Given the description of an element on the screen output the (x, y) to click on. 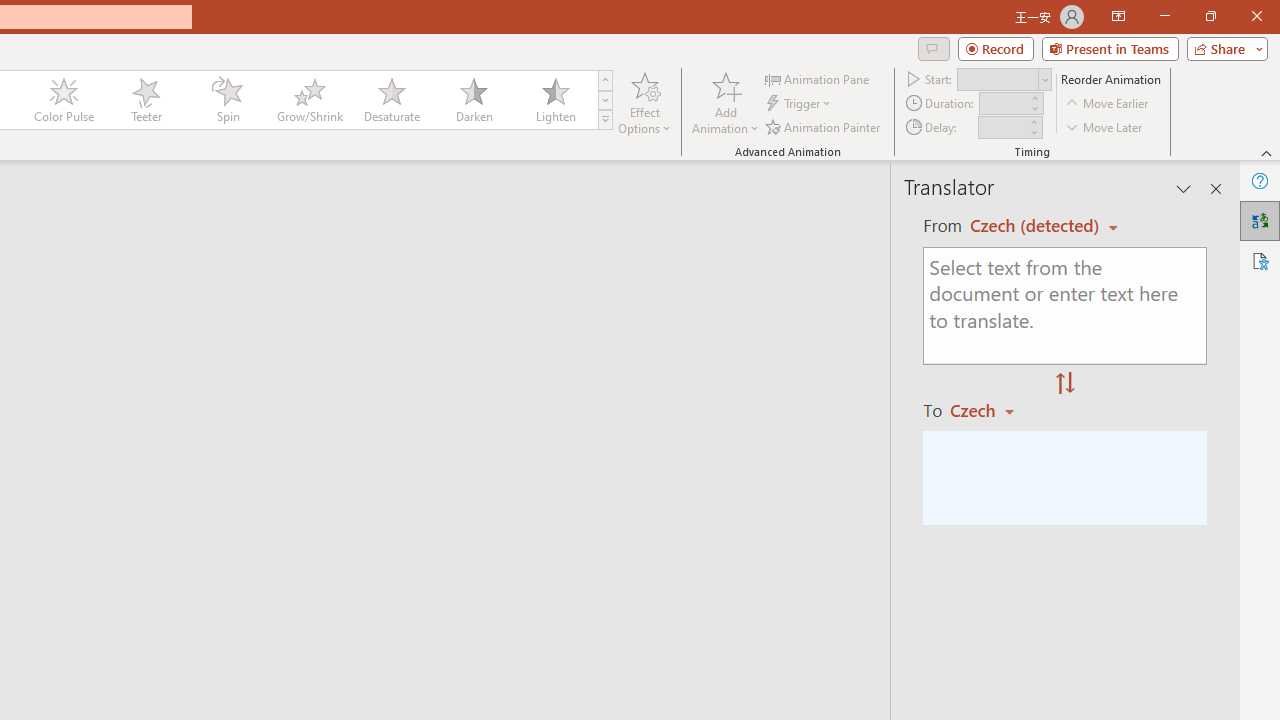
Desaturate (391, 100)
Move Earlier (1107, 103)
Move Later (1105, 126)
Czech (detected) (1037, 225)
Animation Delay (1002, 127)
Darken (473, 100)
Lighten (555, 100)
Teeter (145, 100)
